Given the description of an element on the screen output the (x, y) to click on. 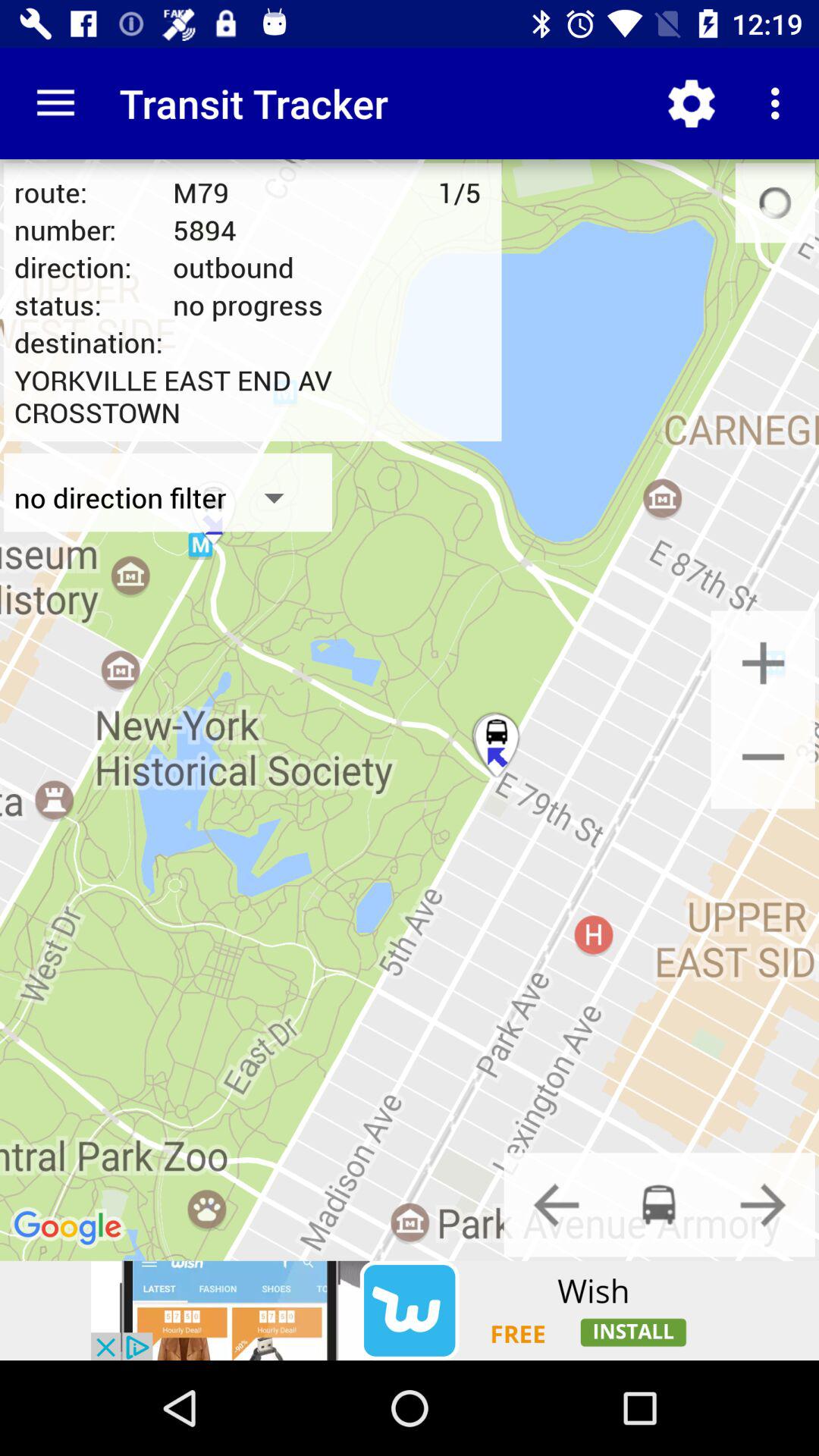
select map (762, 756)
